Given the description of an element on the screen output the (x, y) to click on. 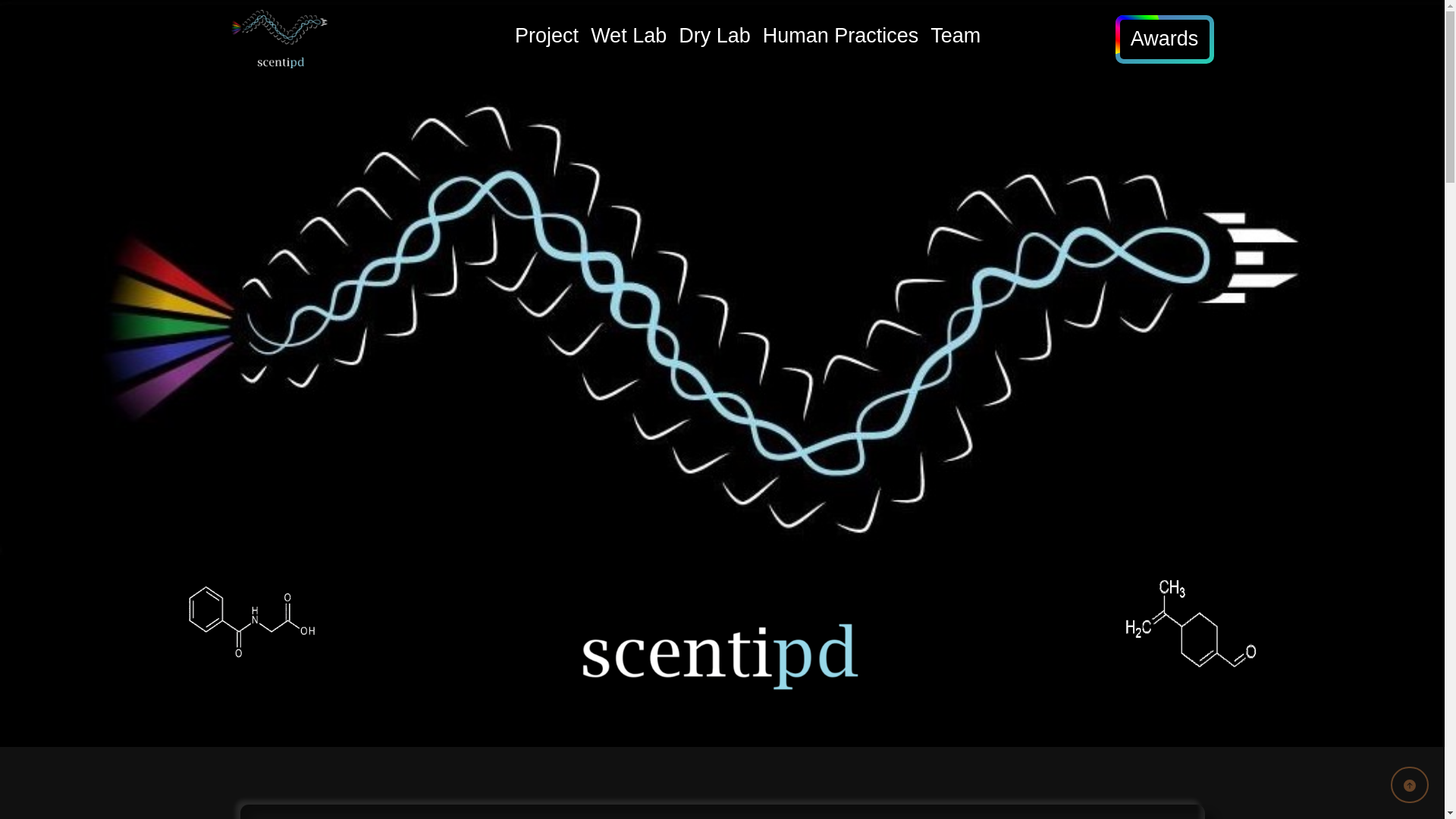
Wet Lab (628, 38)
Project (546, 38)
Human Practices (840, 38)
Awards (1164, 38)
Dry Lab (714, 38)
Team (955, 38)
